Given the description of an element on the screen output the (x, y) to click on. 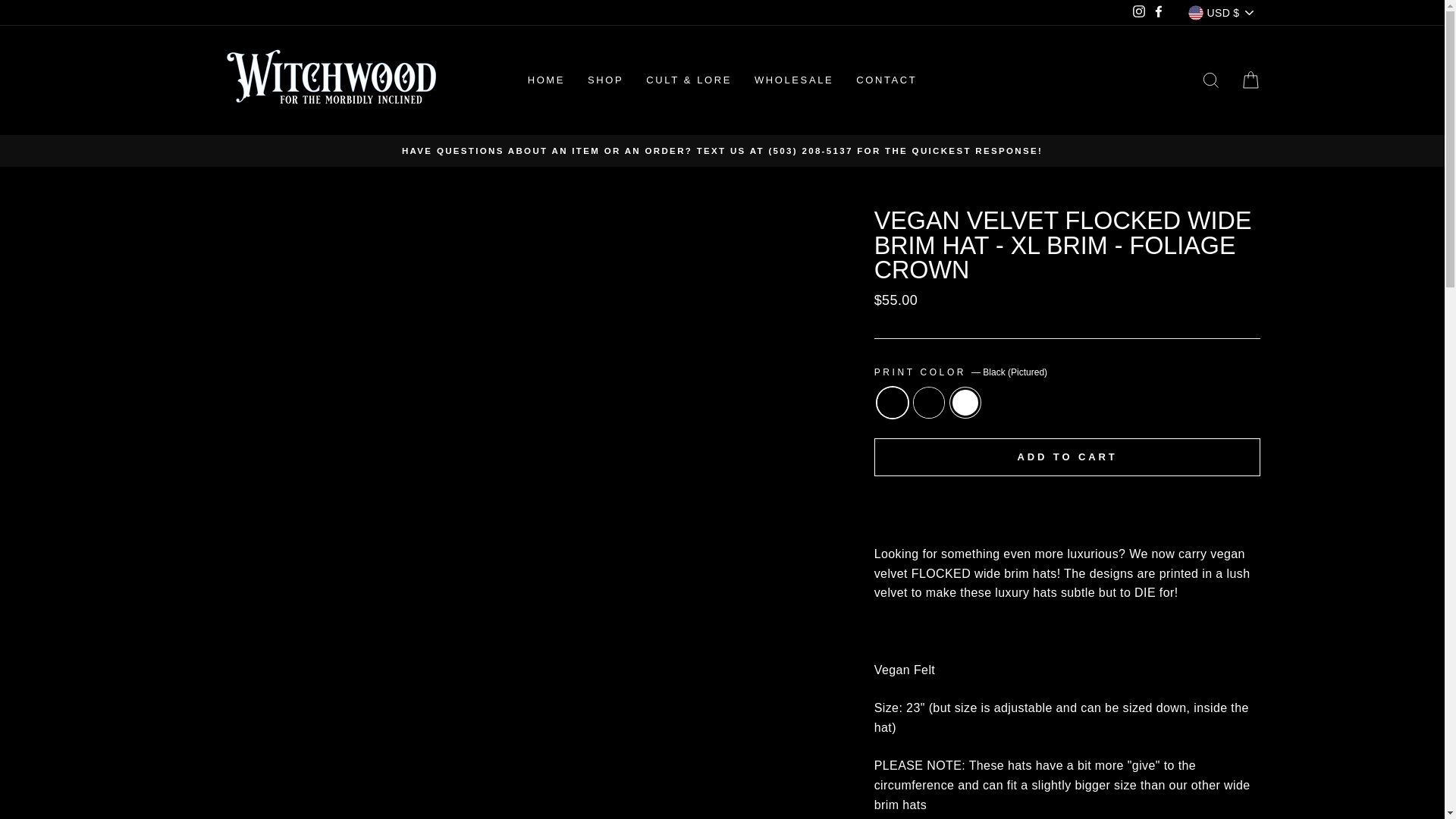
Witchwood Bags on Instagram (1138, 12)
Witchwood Bags on Facebook (1158, 12)
